Given the description of an element on the screen output the (x, y) to click on. 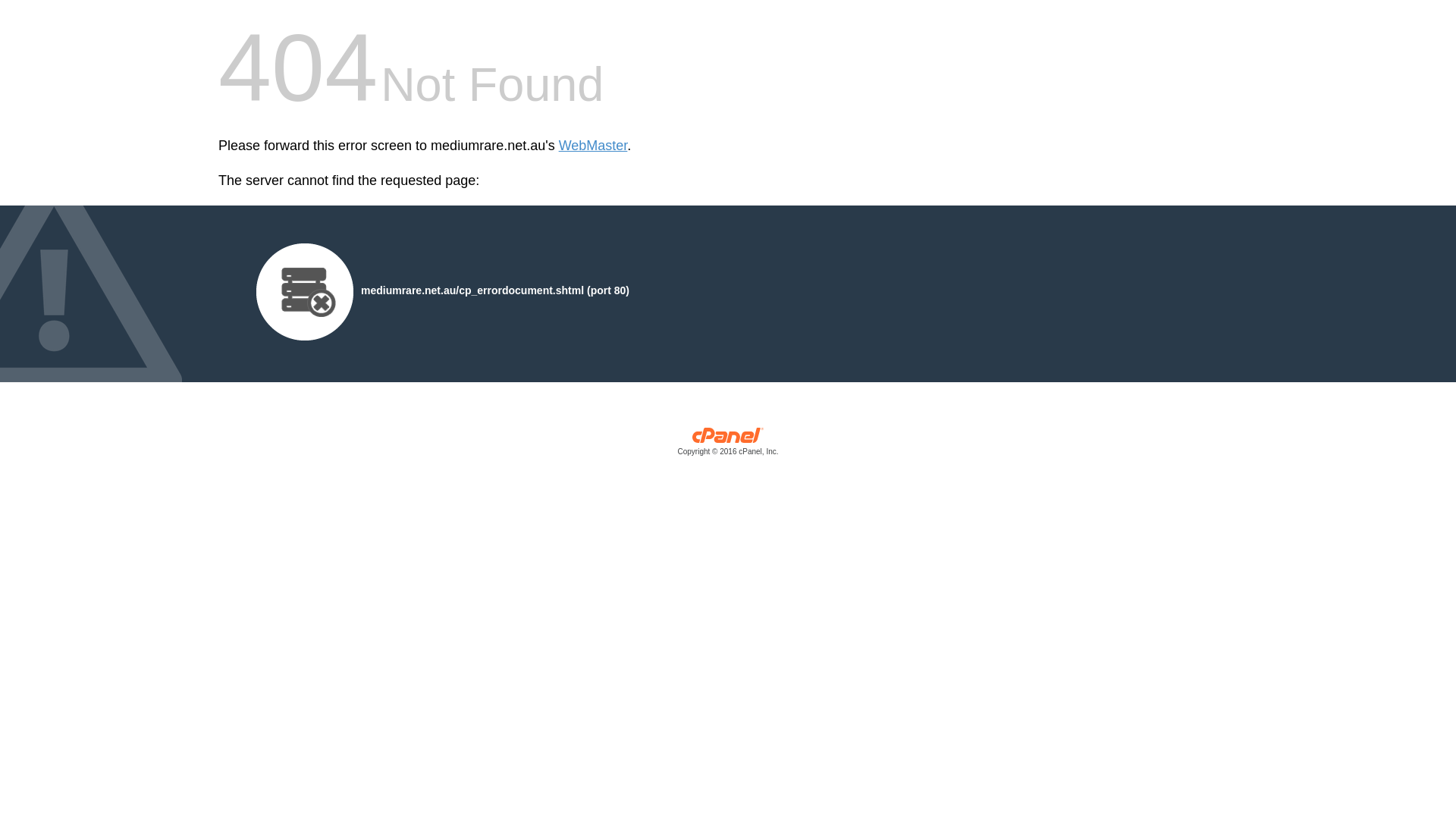
WebMaster Element type: text (592, 145)
